Given the description of an element on the screen output the (x, y) to click on. 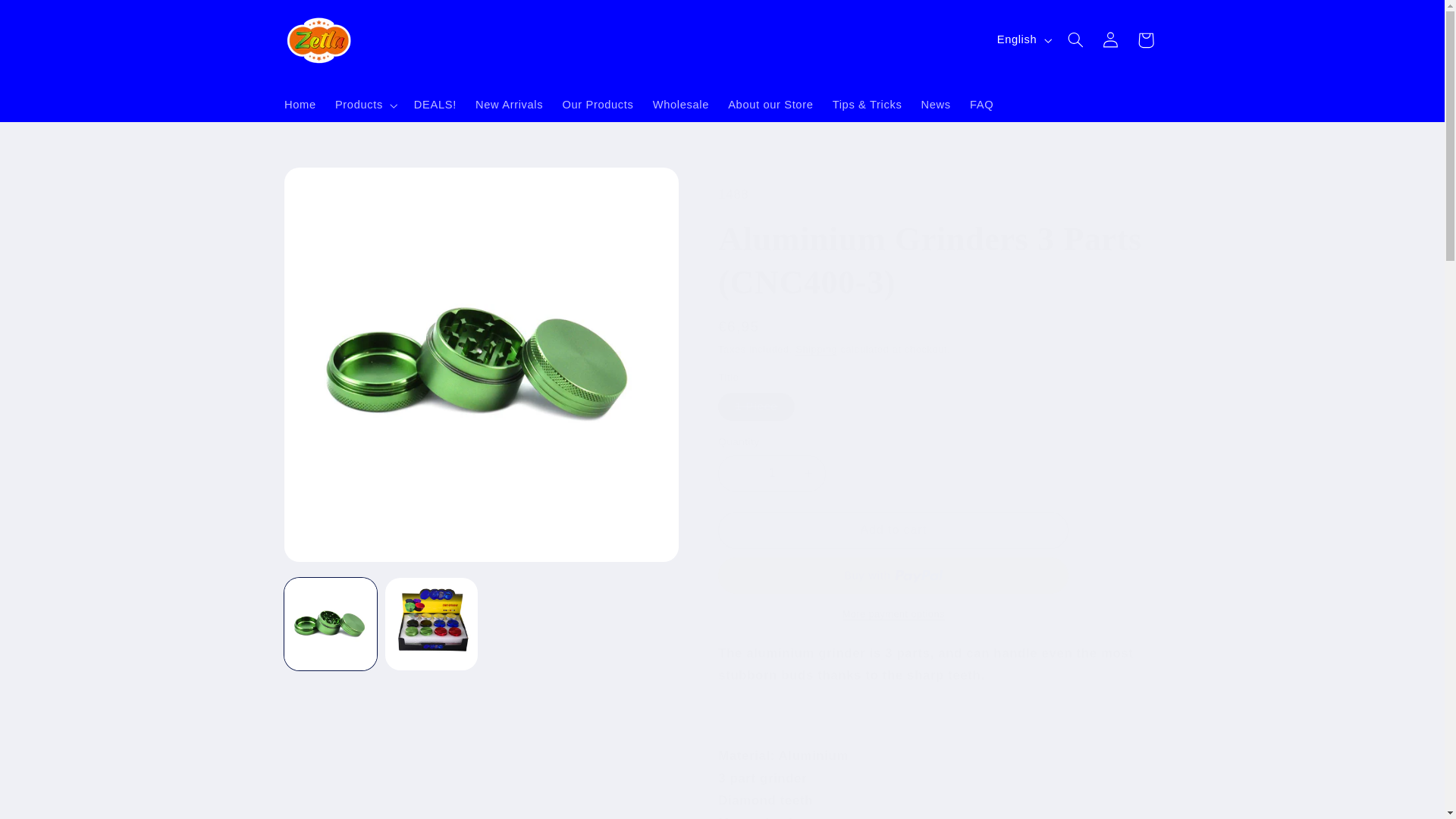
Skip to content (48, 18)
1 (771, 473)
